Given the description of an element on the screen output the (x, y) to click on. 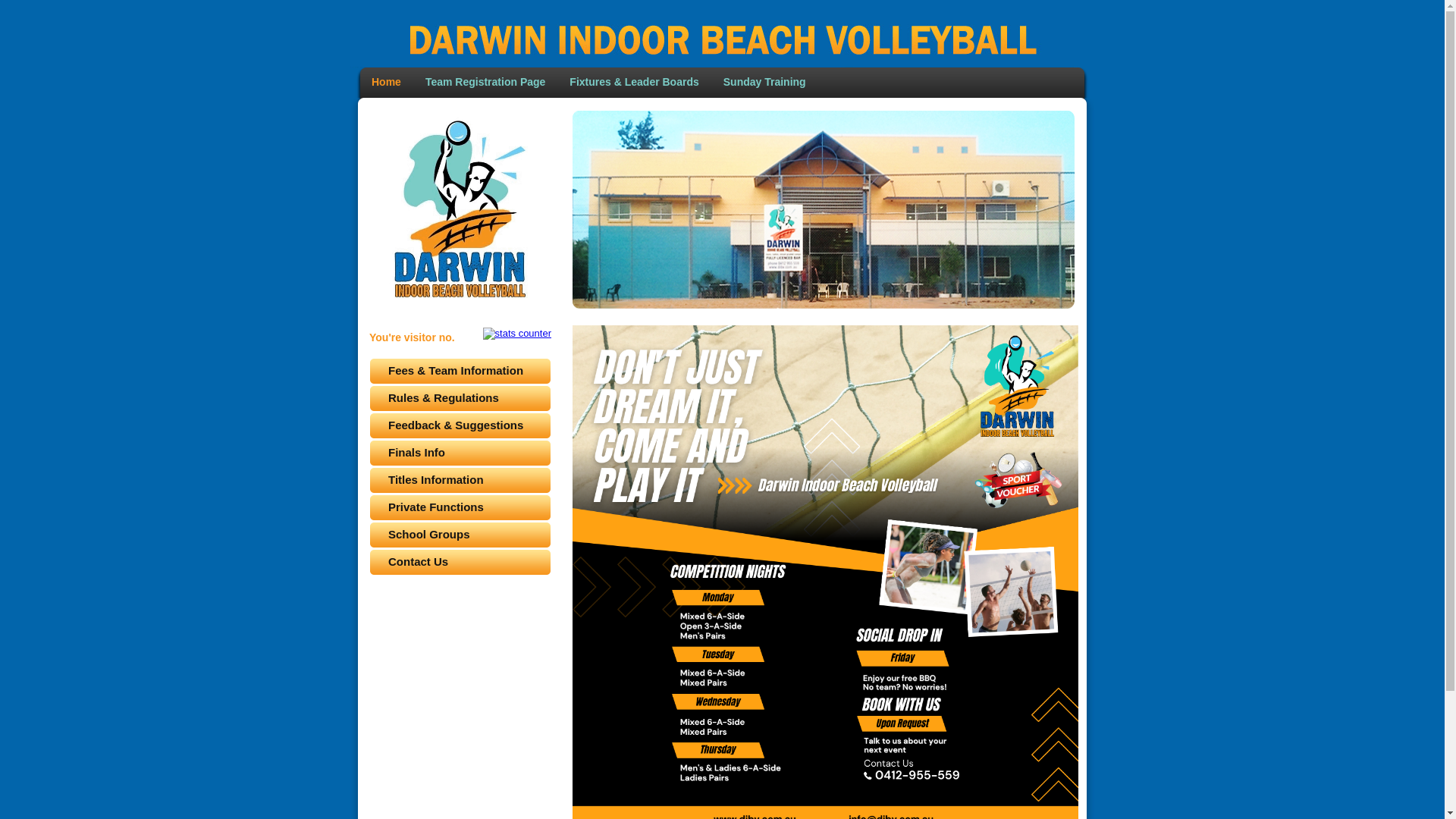
Titles Information Element type: text (460, 479)
Fees & Team Information Element type: text (460, 370)
Fixtures & Leader Boards Element type: text (633, 81)
Sunday Training Element type: text (764, 81)
Team Registration Page Element type: text (485, 81)
Finals Info Element type: text (460, 452)
Rules & Regulations Element type: text (460, 398)
Feedback & Suggestions Element type: text (460, 425)
Home Element type: text (386, 81)
Contact Us Element type: text (460, 561)
School Groups Element type: text (460, 534)
Private Functions Element type: text (460, 507)
